Given the description of an element on the screen output the (x, y) to click on. 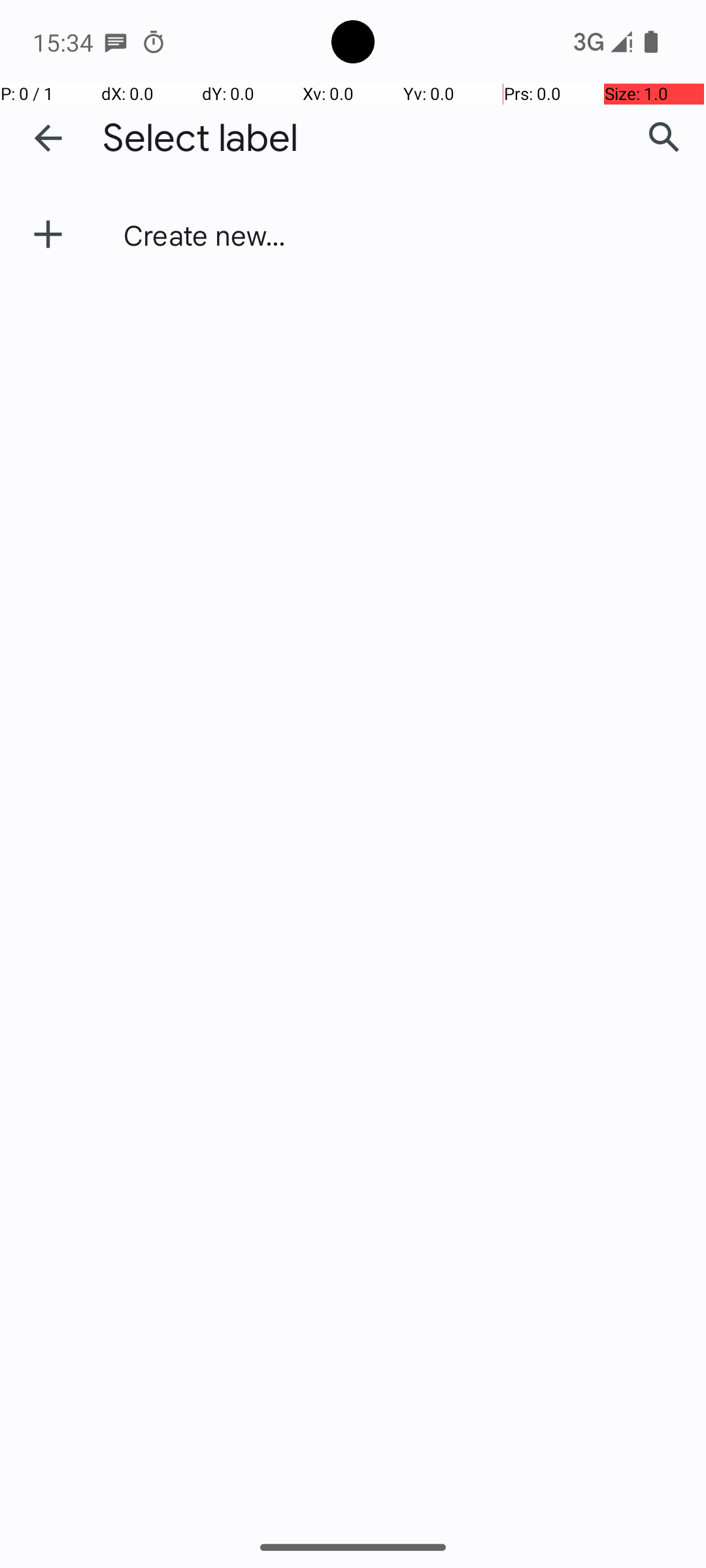
Select label Element type: android.widget.TextView (200, 138)
Search labels Element type: android.widget.Button (664, 137)
Create new… Element type: android.widget.TextView (204, 234)
SMS Messenger notification: Sophie Gonzalez Element type: android.widget.ImageView (115, 41)
